Given the description of an element on the screen output the (x, y) to click on. 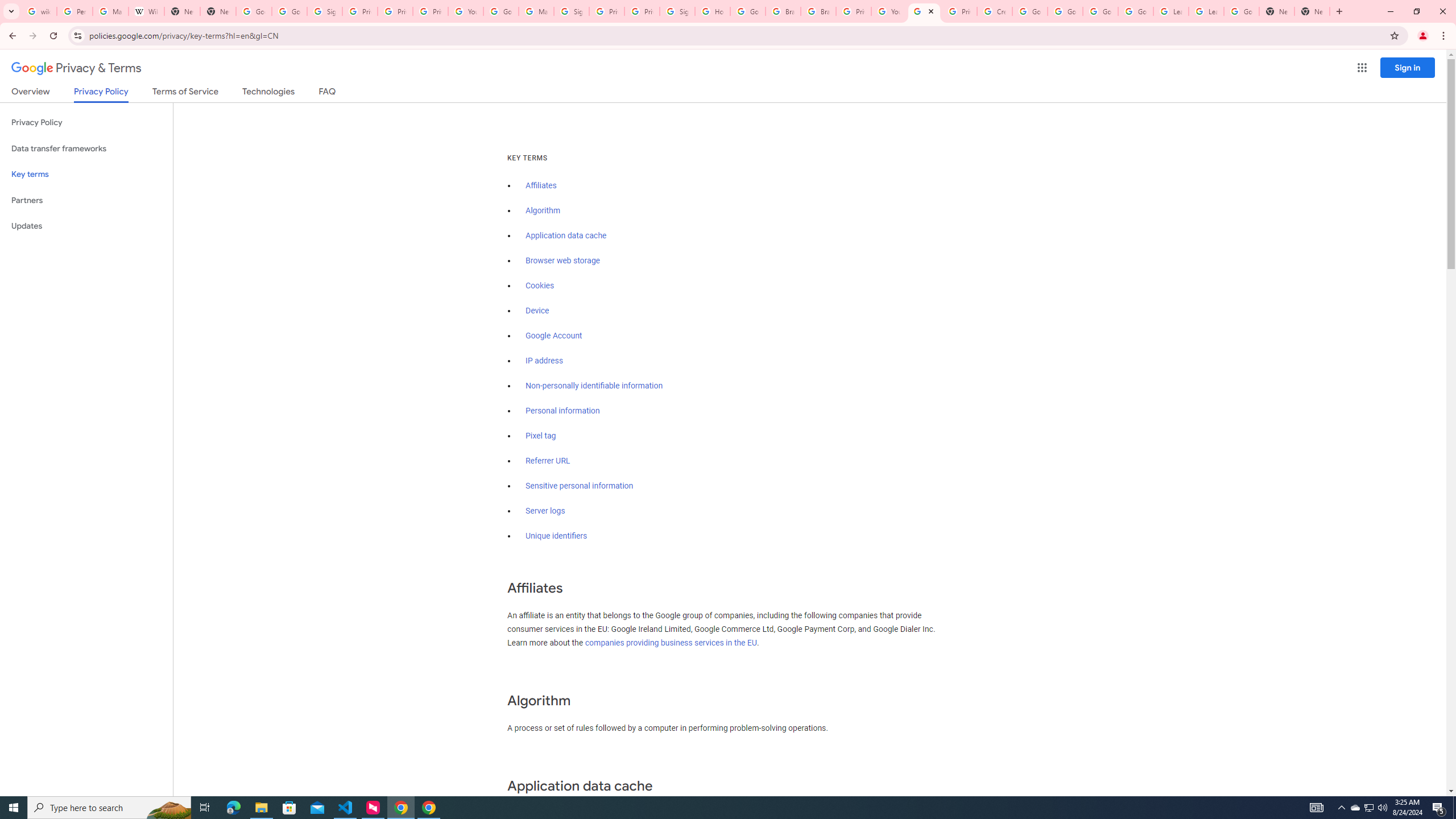
Google Account Help (1029, 11)
Wikipedia:Edit requests - Wikipedia (145, 11)
Sign in - Google Accounts (571, 11)
Affiliates (540, 185)
Create your Google Account (994, 11)
Google Account (553, 335)
YouTube (888, 11)
New Tab (1312, 11)
Personalization & Google Search results - Google Search Help (74, 11)
